Given the description of an element on the screen output the (x, y) to click on. 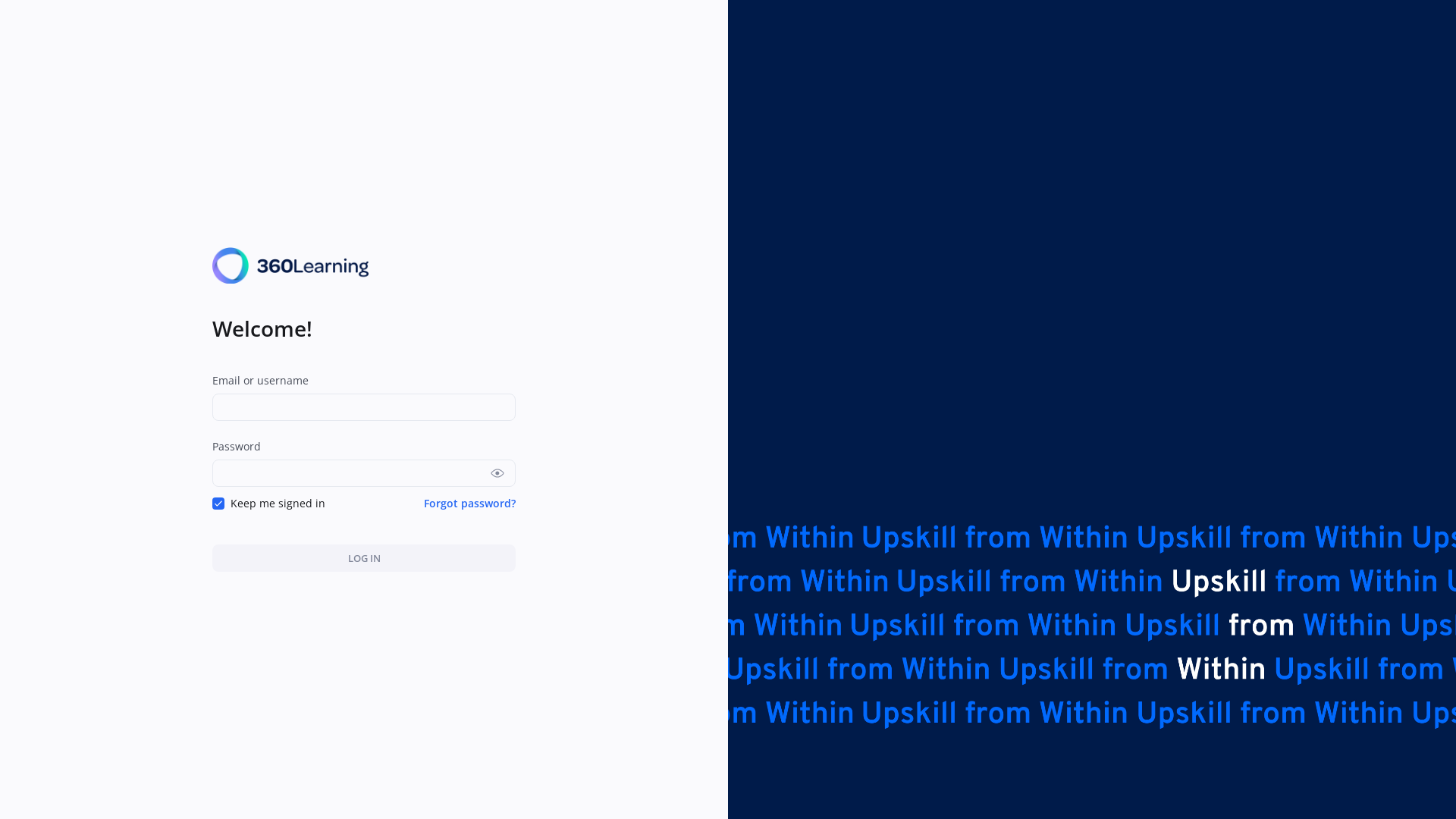
Forgot password? Element type: text (469, 502)
LOG IN Element type: text (363, 557)
